Given the description of an element on the screen output the (x, y) to click on. 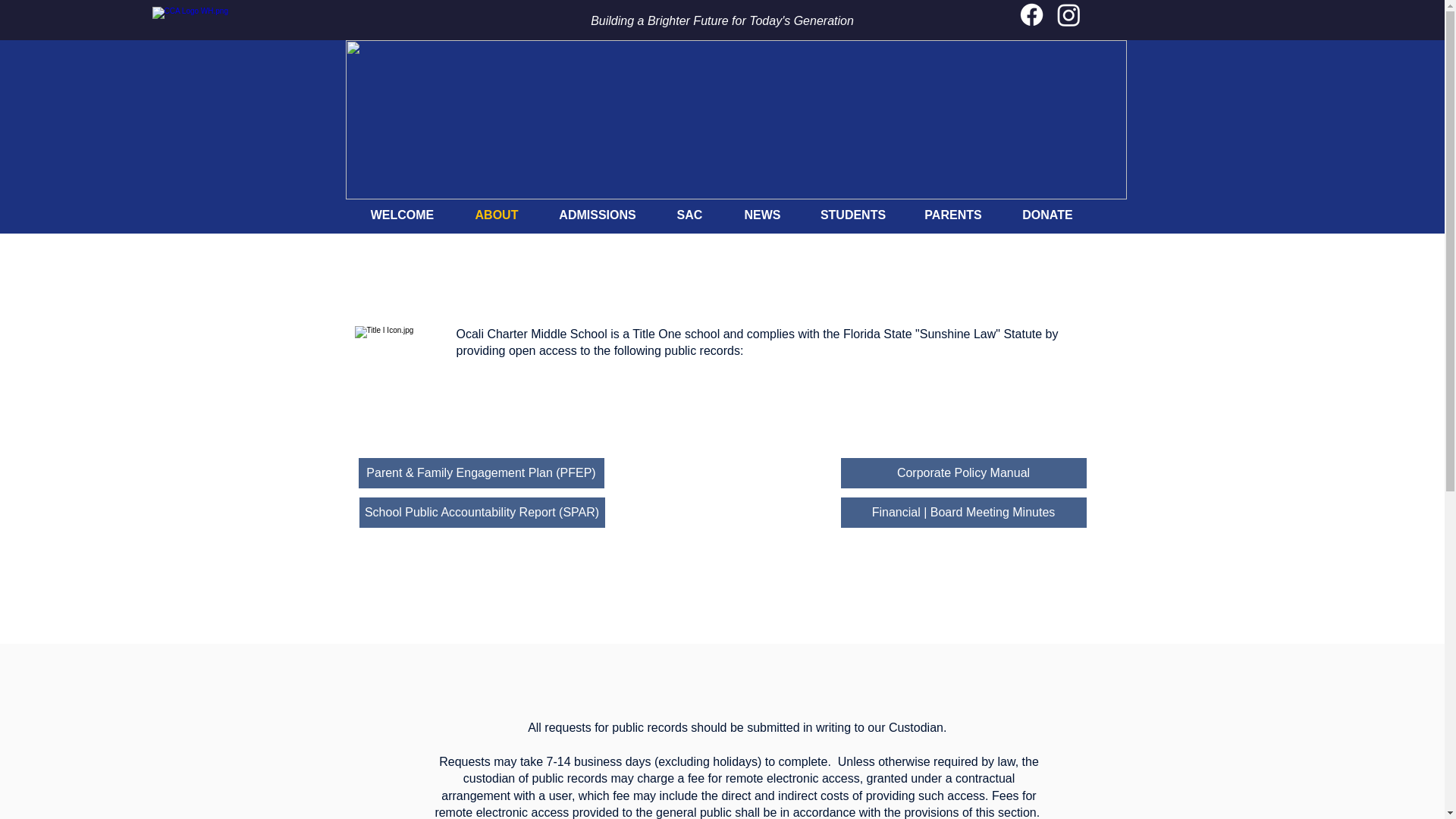
OCMS Banner.png (736, 119)
STUDENTS (852, 215)
SAC (689, 215)
PARENTS (953, 215)
DONATE (1047, 215)
NEWS (761, 215)
ABOUT (495, 215)
Corporate Policy Manual (963, 472)
WELCOME (401, 215)
ADMISSIONS (598, 215)
